Given the description of an element on the screen output the (x, y) to click on. 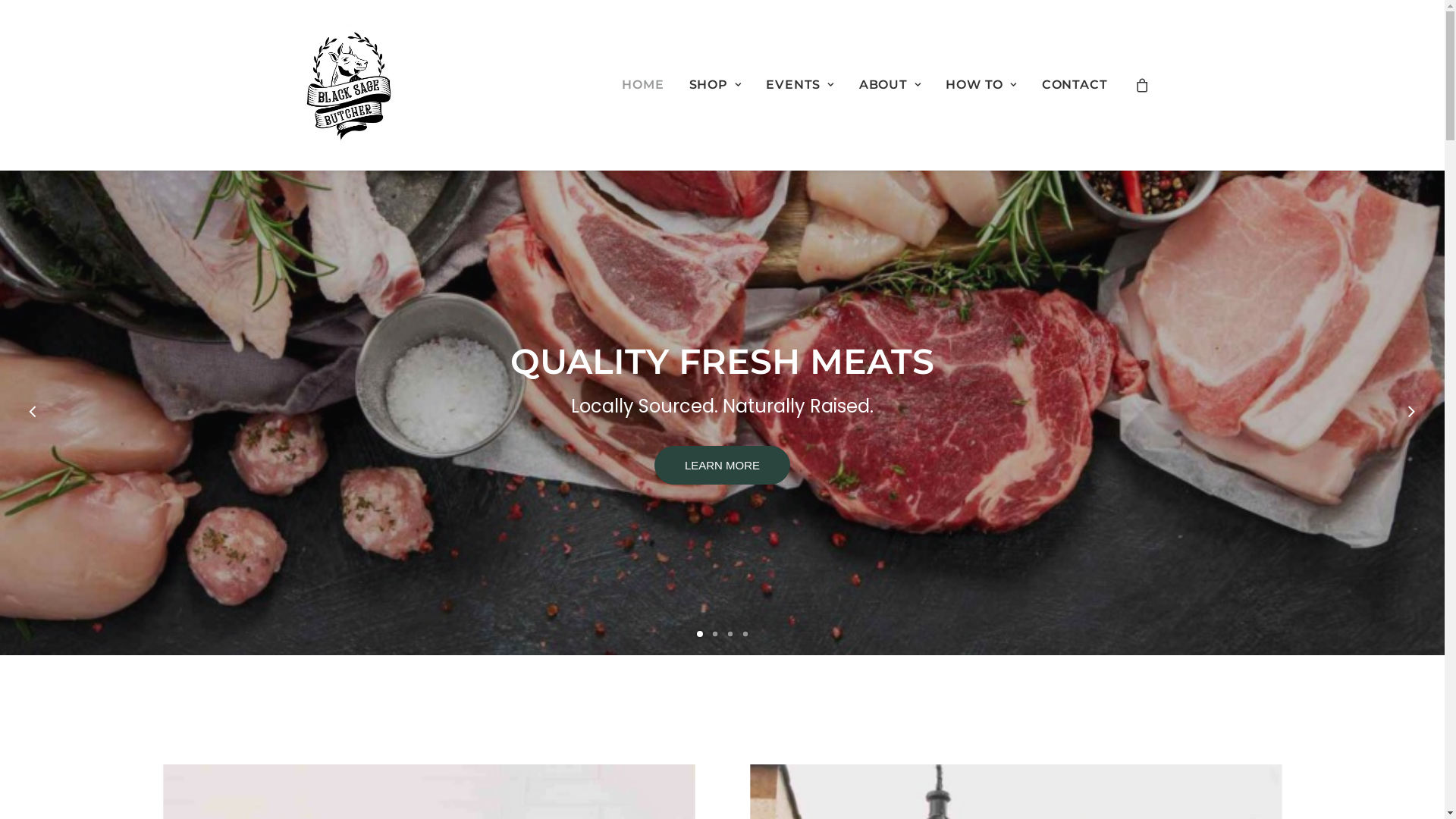
LEARN MORE Element type: text (739, 464)
SHOP Element type: text (714, 84)
HOME Element type: text (642, 84)
cart Element type: hover (1141, 84)
HOW TO Element type: text (980, 84)
ABOUT Element type: text (889, 84)
CONTACT Element type: text (1069, 84)
EVENTS Element type: text (799, 84)
